Given the description of an element on the screen output the (x, y) to click on. 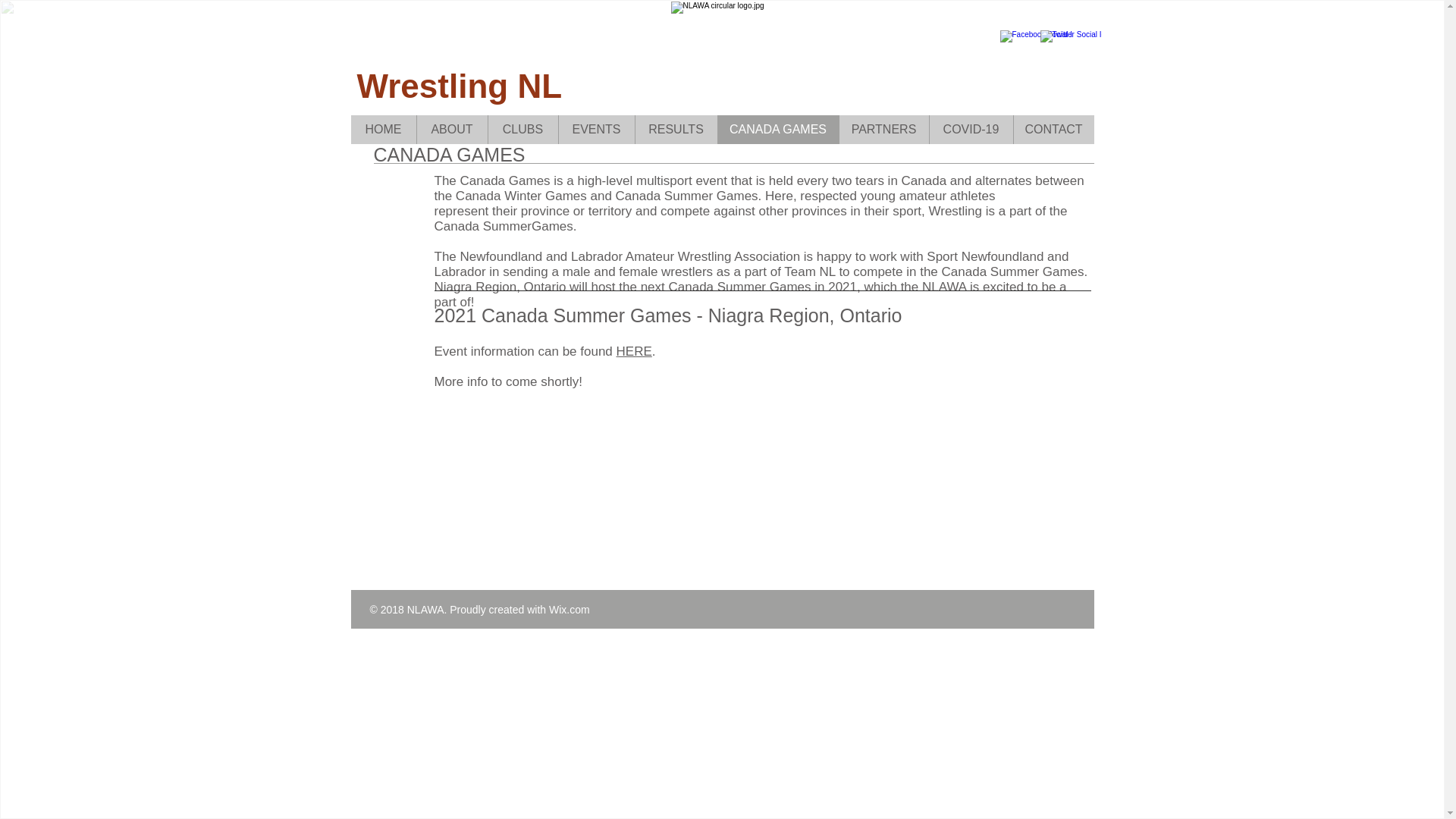
PARTNERS (883, 129)
CANADA GAMES (777, 129)
EVENTS (595, 129)
RESULTS (674, 129)
HOME (382, 129)
ABOUT (450, 129)
Wrestling NL (459, 85)
HERE (633, 350)
CLUBS (521, 129)
Wix.com (568, 609)
